Given the description of an element on the screen output the (x, y) to click on. 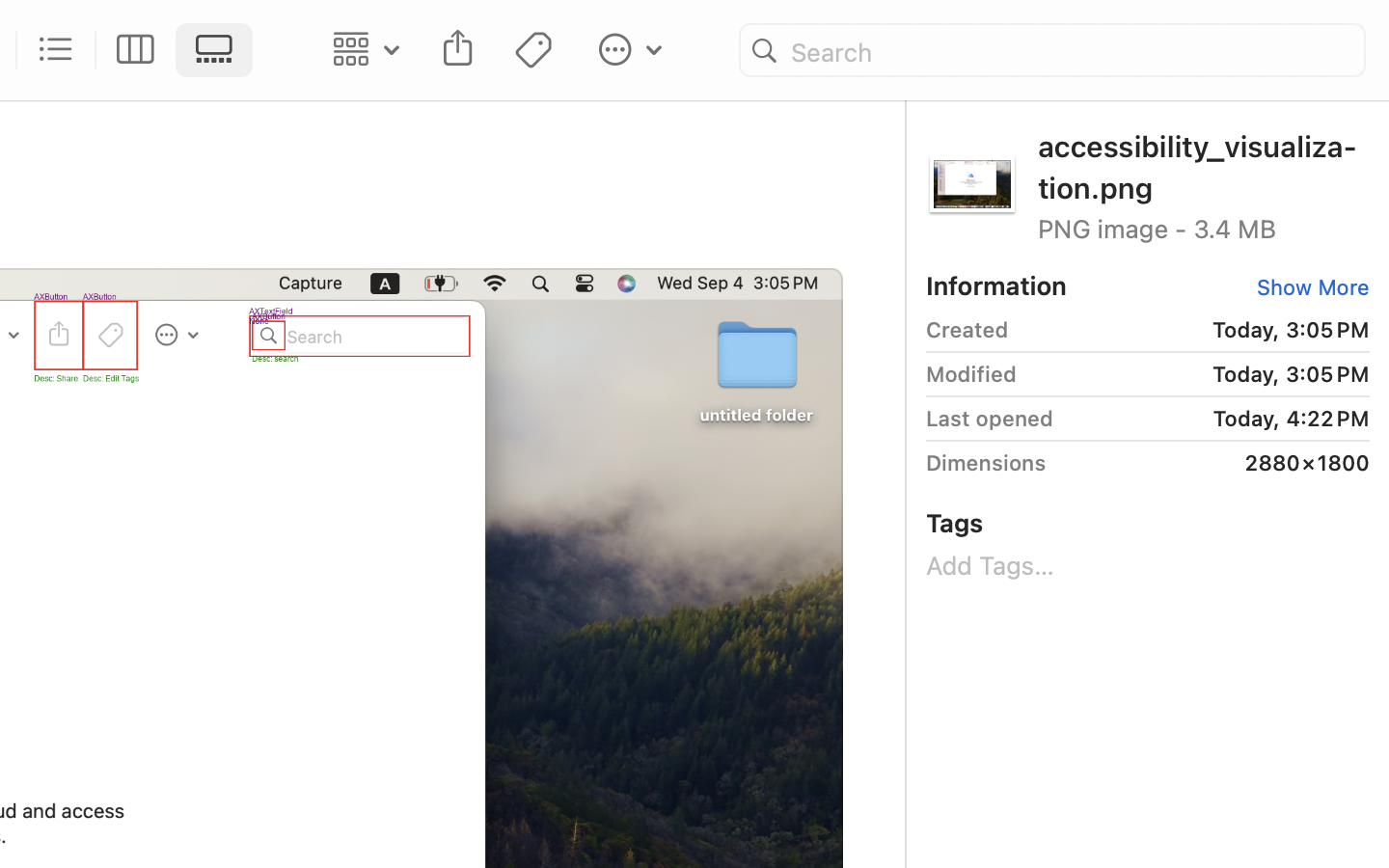
Dimensions Element type: AXStaticText (985, 462)
Modified Element type: AXStaticText (971, 373)
Today, 4:22 PM Element type: AXStaticText (1217, 418)
1 Element type: AXRadioButton (219, 49)
